Given the description of an element on the screen output the (x, y) to click on. 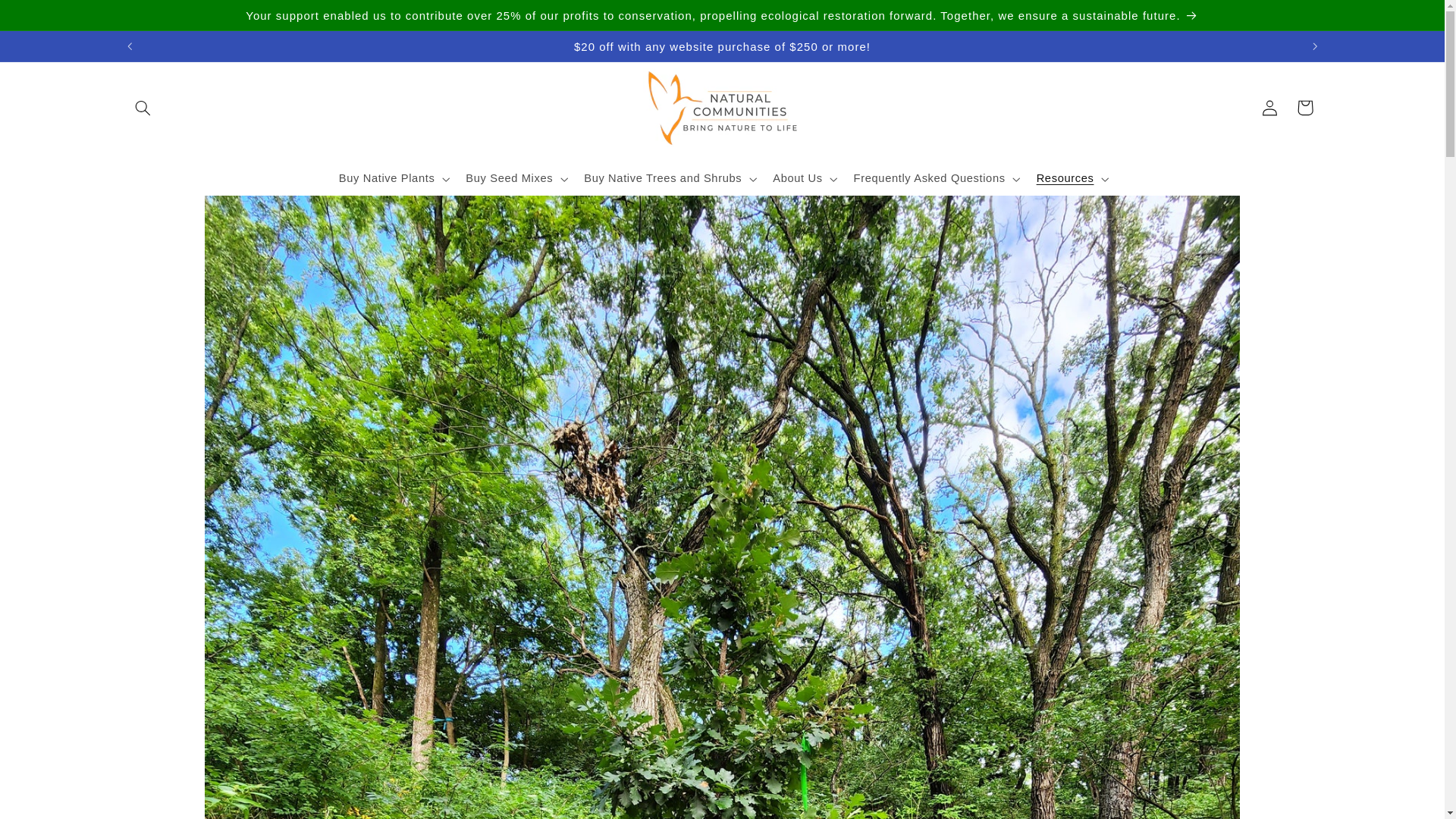
Skip to content (47, 17)
